Given the description of an element on the screen output the (x, y) to click on. 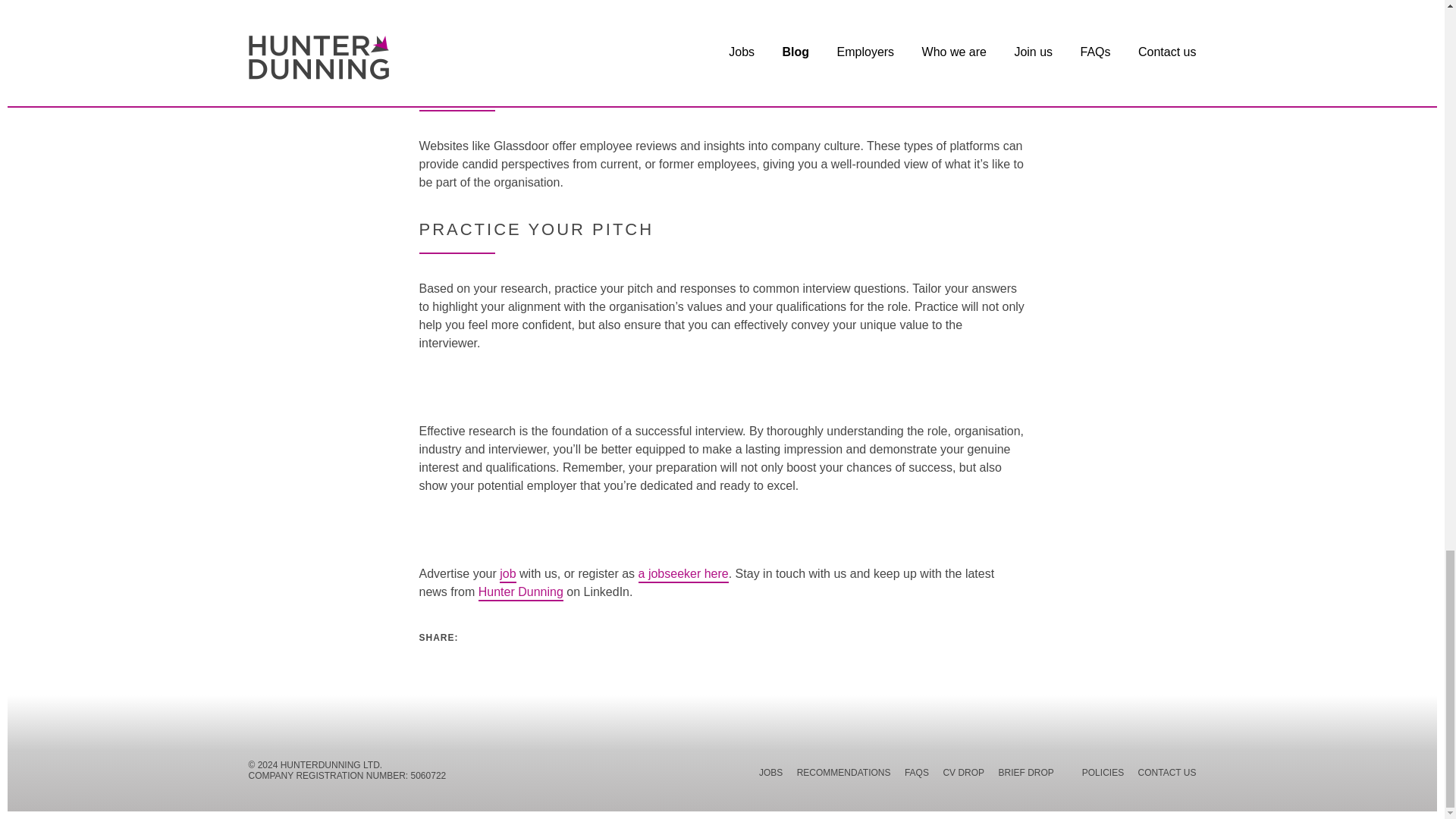
BRIEF DROP (1026, 774)
POLICIES (1102, 774)
a jobseeker here (684, 575)
JOBS (770, 774)
Hunter Dunning (521, 594)
CONTACT US (1167, 774)
CV DROP (963, 774)
RECOMMENDATIONS (843, 774)
FAQS (916, 774)
job (507, 575)
